Given the description of an element on the screen output the (x, y) to click on. 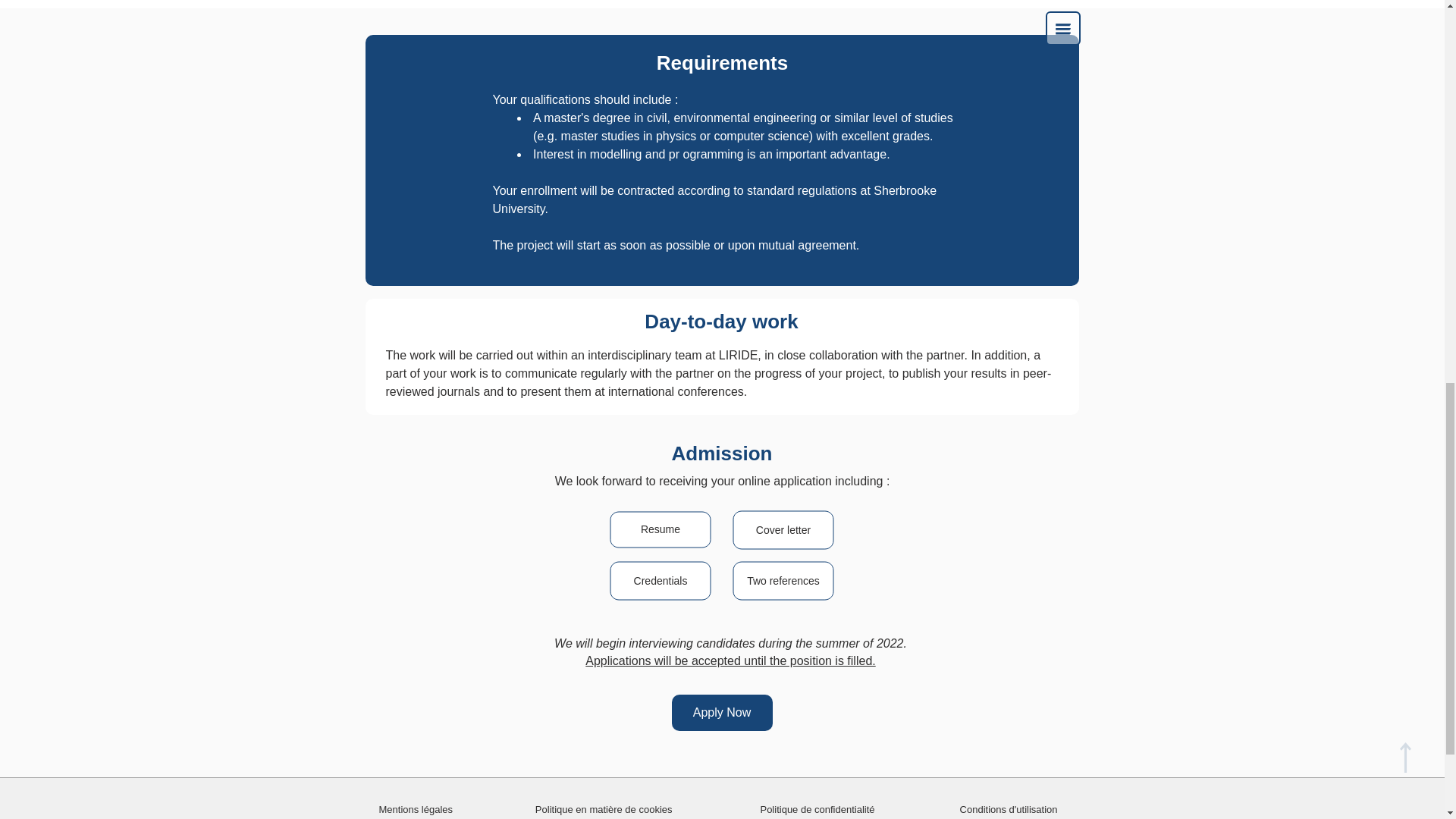
Apply Now (722, 712)
